Given the description of an element on the screen output the (x, y) to click on. 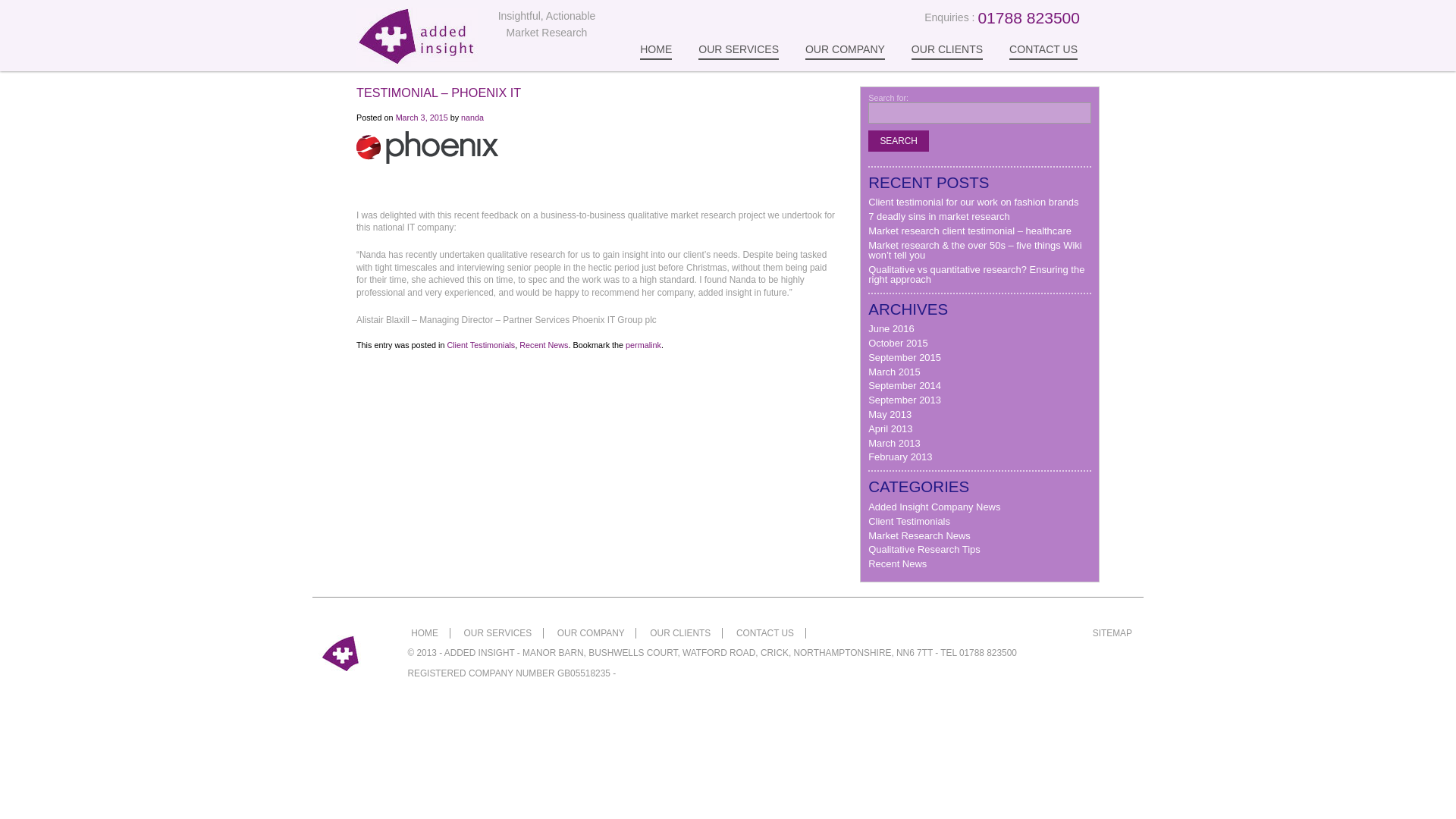
View all posts in Client Testimonials (480, 343)
March 3, 2015 (422, 117)
Search (897, 140)
Qualitative Research Tips (923, 549)
Client Testimonials (480, 343)
April 2013 (889, 428)
Recent News (543, 343)
HOME (424, 633)
September 2015 (903, 357)
OUR COMPANY (845, 51)
